Given the description of an element on the screen output the (x, y) to click on. 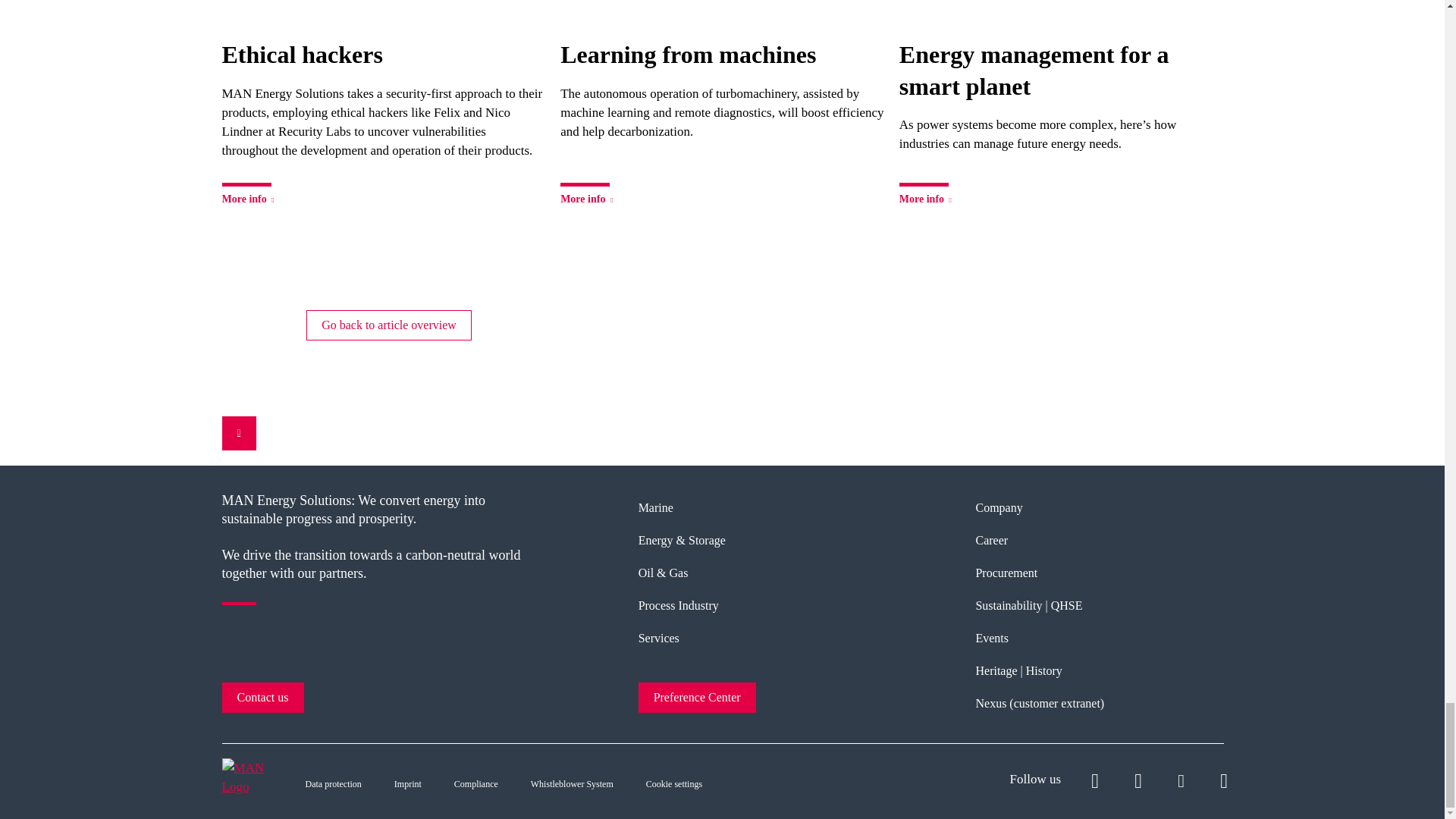
More info (587, 194)
Career (991, 540)
Process Industry (679, 604)
Procurement (1005, 572)
More info (248, 194)
Marine (655, 507)
Events (992, 637)
Go back to article overview (388, 325)
Learning from machines (721, 55)
Services (659, 637)
Energy management for a smart planet (1061, 70)
Company (998, 507)
Sustainability (1008, 604)
Contact us (261, 697)
More info (927, 194)
